Given the description of an element on the screen output the (x, y) to click on. 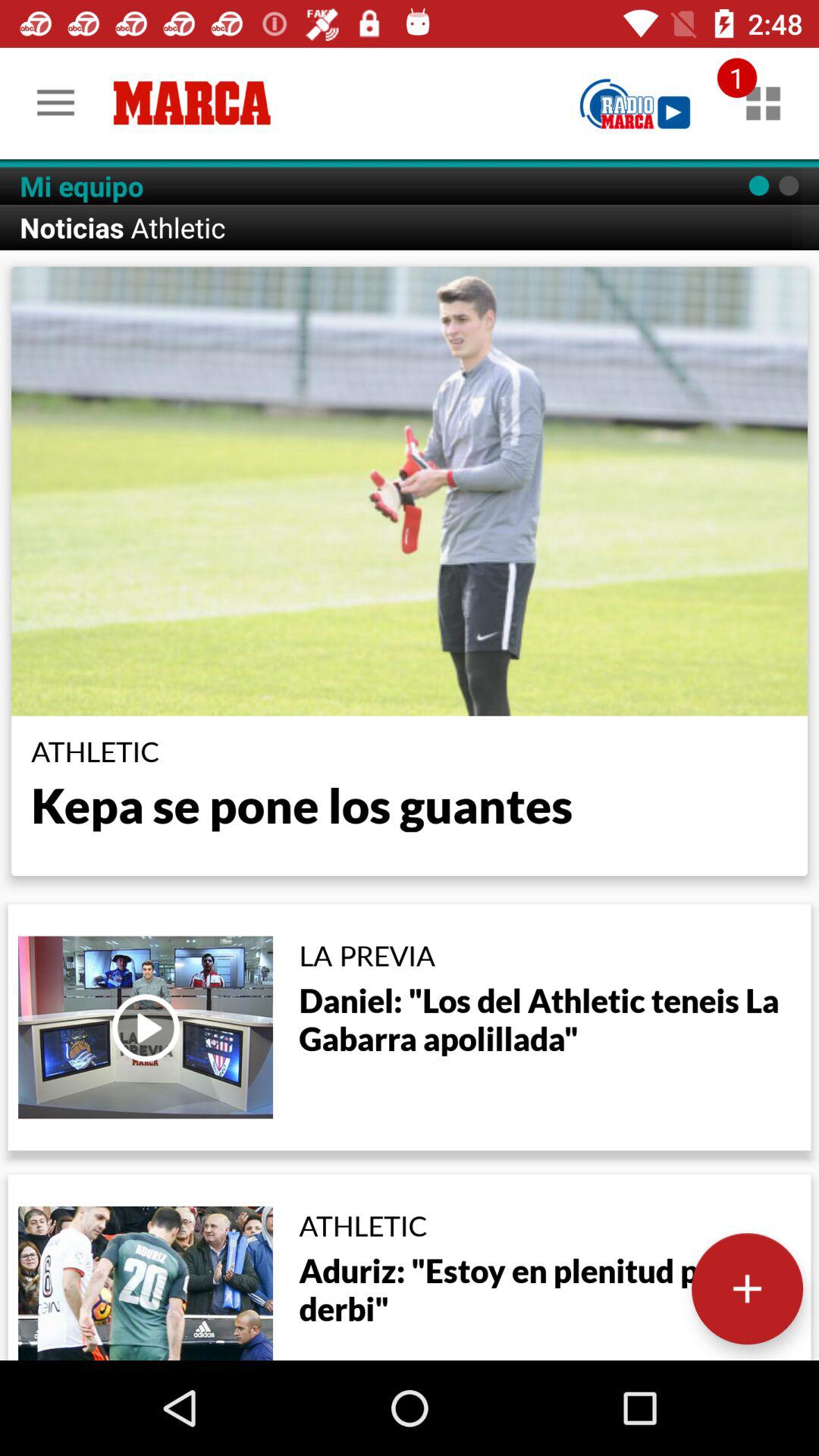
more options (747, 1288)
